Given the description of an element on the screen output the (x, y) to click on. 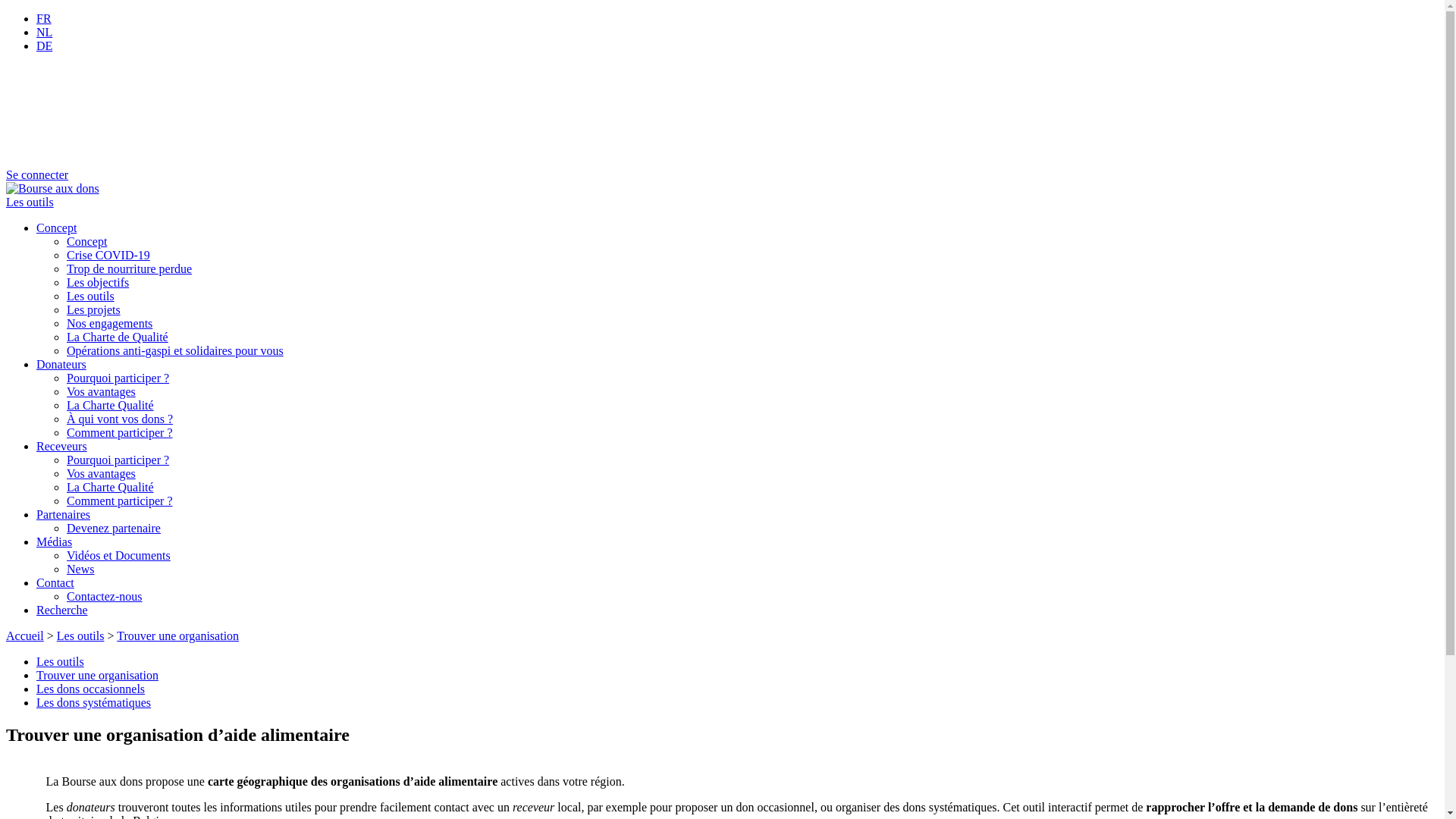
Comment participer ? Element type: text (119, 500)
Les dons occasionnels Element type: text (90, 688)
Trouver une organisation Element type: text (177, 635)
Trop de nourriture perdue Element type: text (128, 268)
Les outils Element type: text (60, 661)
Concept Element type: text (56, 227)
Vos avantages Element type: text (100, 473)
Recherche Element type: text (61, 609)
Concept Element type: text (86, 241)
Partenaires Element type: text (63, 514)
News Element type: text (80, 568)
Les outils Element type: text (80, 635)
Nos engagements Element type: text (109, 322)
Donateurs Element type: text (61, 363)
Vos avantages Element type: text (100, 391)
DE Element type: text (44, 45)
Crise COVID-19 Element type: text (108, 254)
Pourquoi participer ? Element type: text (117, 459)
Comment participer ? Element type: text (119, 432)
Les outils Element type: text (90, 295)
Les outils Element type: text (29, 201)
Les objectifs Element type: text (97, 282)
FR Element type: text (43, 18)
Les projets Element type: text (93, 309)
Pourquoi participer ? Element type: text (117, 377)
Accueil Element type: text (24, 635)
Se connecter Element type: text (37, 174)
Contactez-nous Element type: text (104, 595)
Receveurs Element type: text (61, 445)
Devenez partenaire Element type: text (113, 527)
Contact Element type: text (55, 582)
Trouver une organisation Element type: text (97, 674)
NL Element type: text (44, 31)
